Given the description of an element on the screen output the (x, y) to click on. 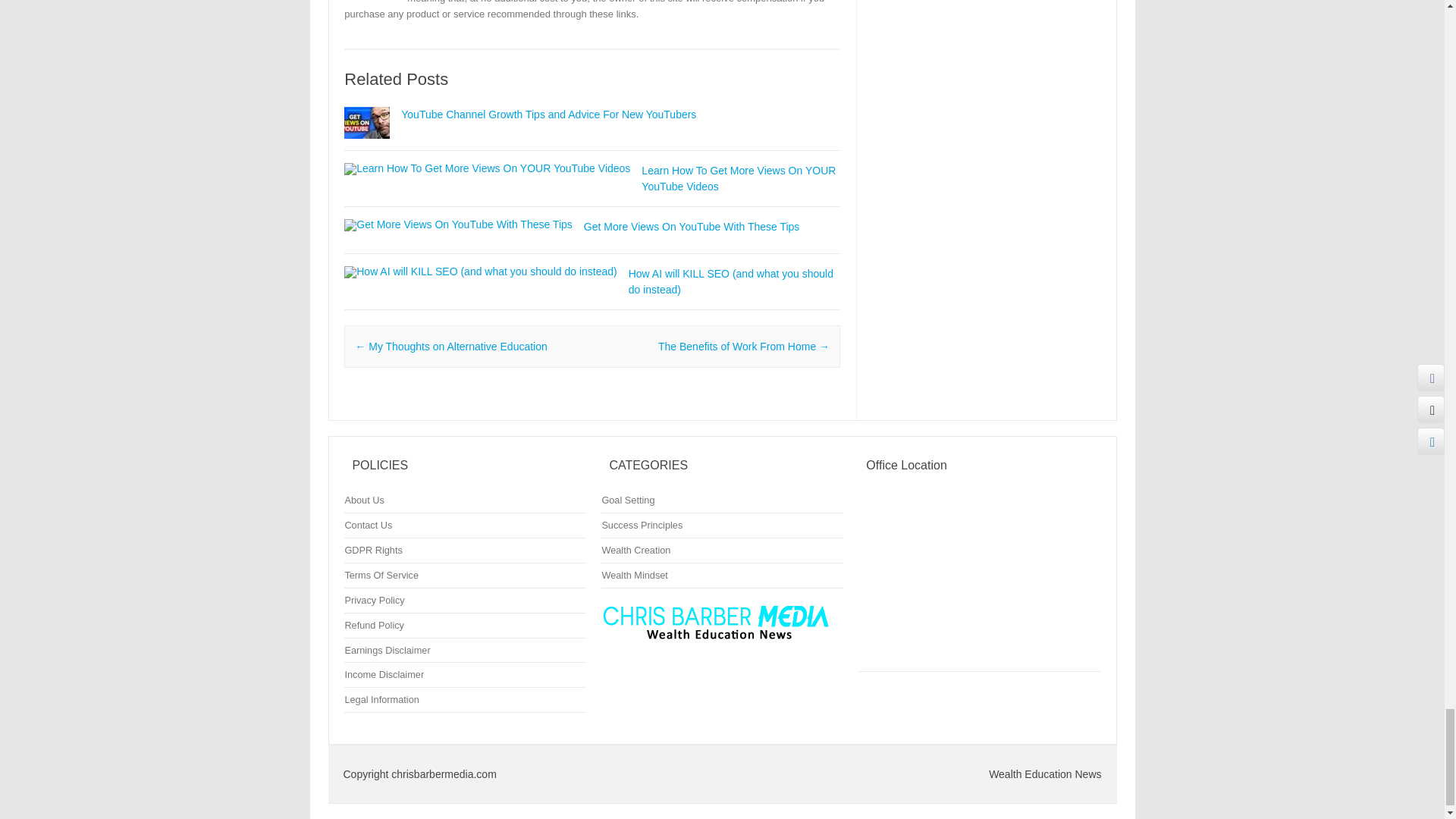
YouTube Channel Growth Tips and Advice For New YouTubers (548, 114)
Learn How To Get More Views On YOUR YouTube Videos (738, 178)
Get More Views On YouTube With These Tips (457, 224)
Learn How To Get More Views On YOUR YouTube Videos (486, 168)
Learn How To Get More Views On YOUR YouTube Videos (738, 178)
YouTube Channel Growth Tips and Advice For New YouTubers (366, 145)
YouTube Channel Growth Tips and Advice For New YouTubers (548, 114)
Get More Views On YouTube With These Tips (691, 226)
Get More Views On YouTube With These Tips (691, 226)
